Given the description of an element on the screen output the (x, y) to click on. 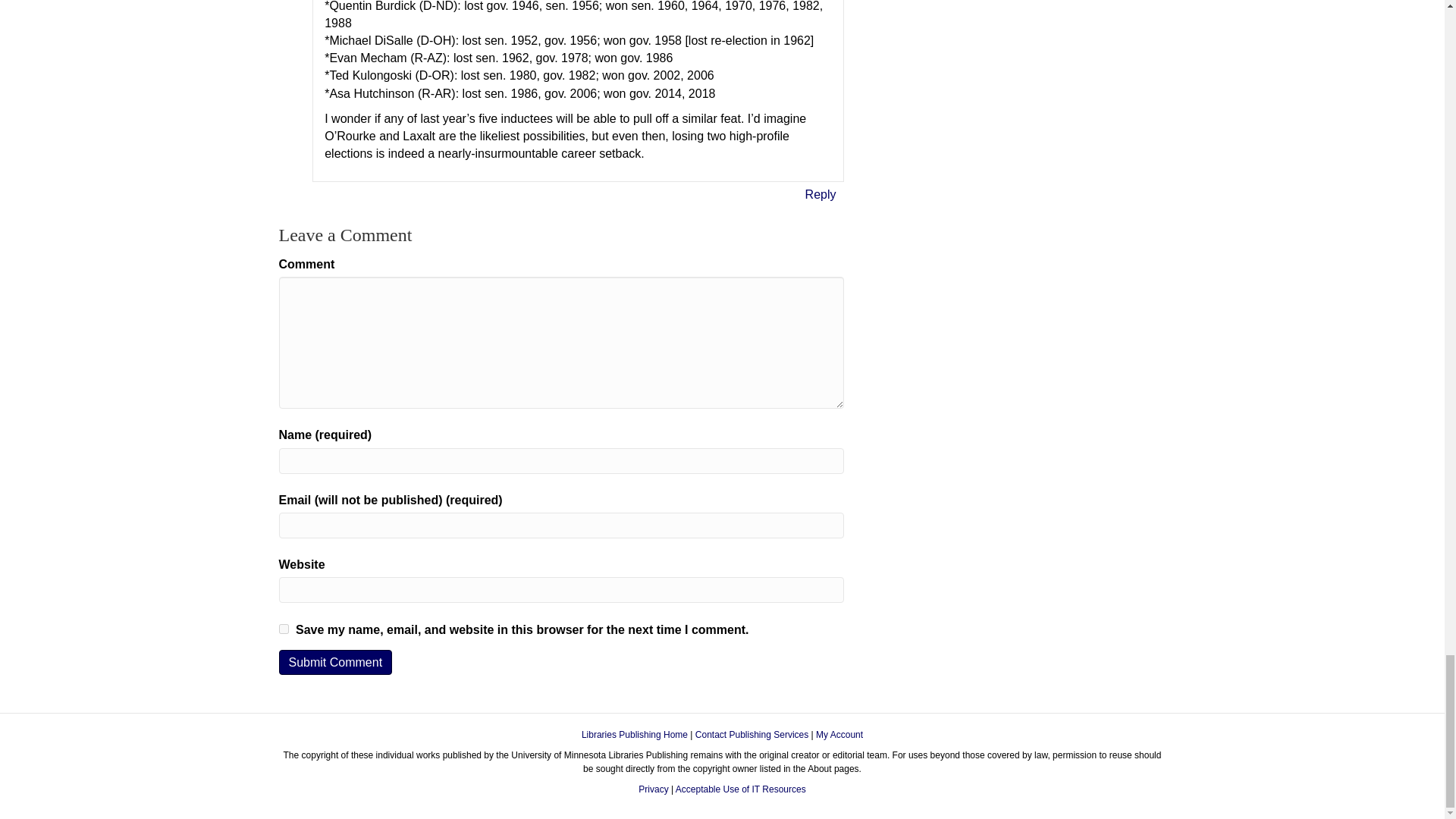
yes (283, 628)
Submit Comment (336, 662)
